Given the description of an element on the screen output the (x, y) to click on. 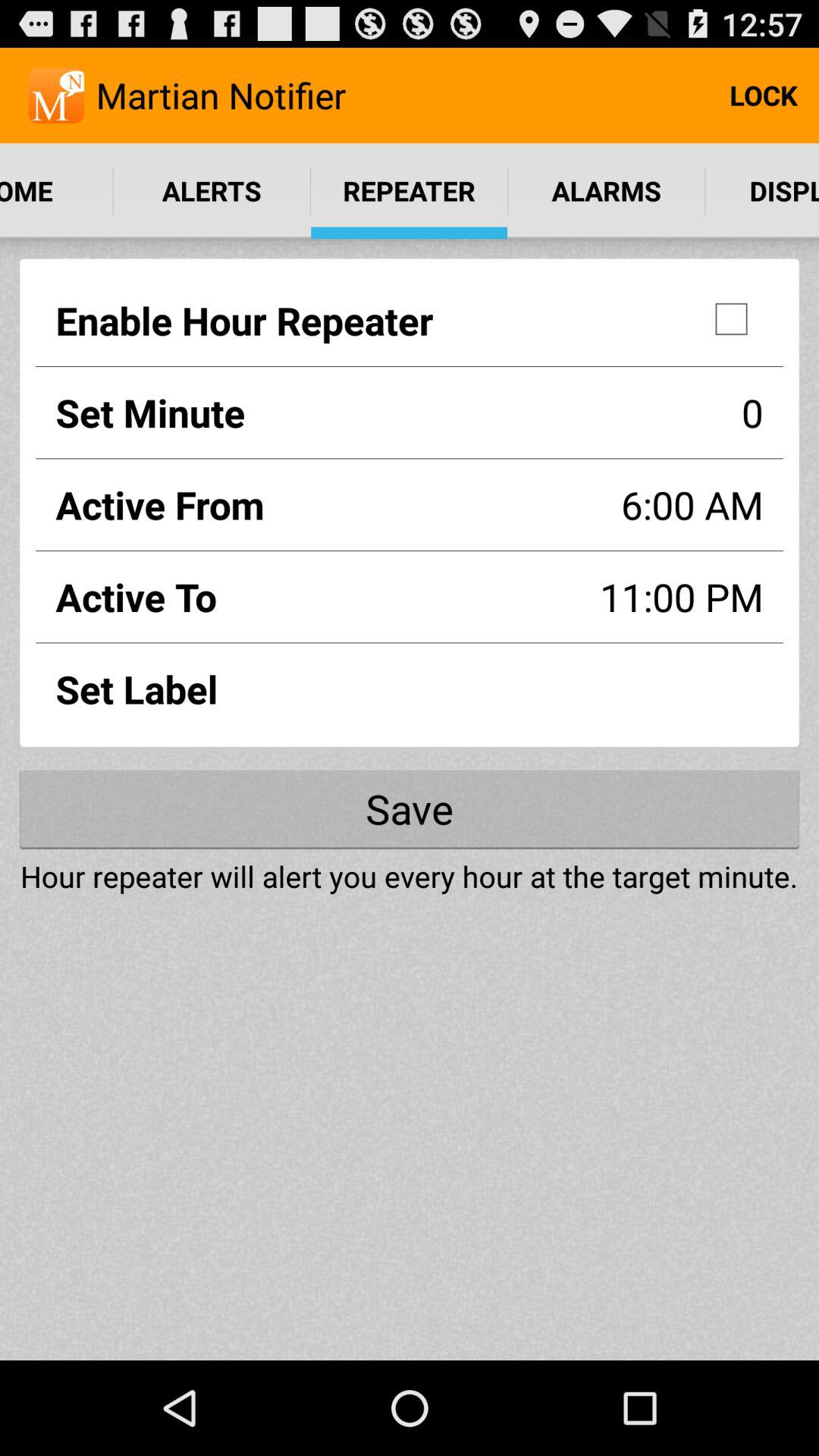
select lock (763, 95)
